Given the description of an element on the screen output the (x, y) to click on. 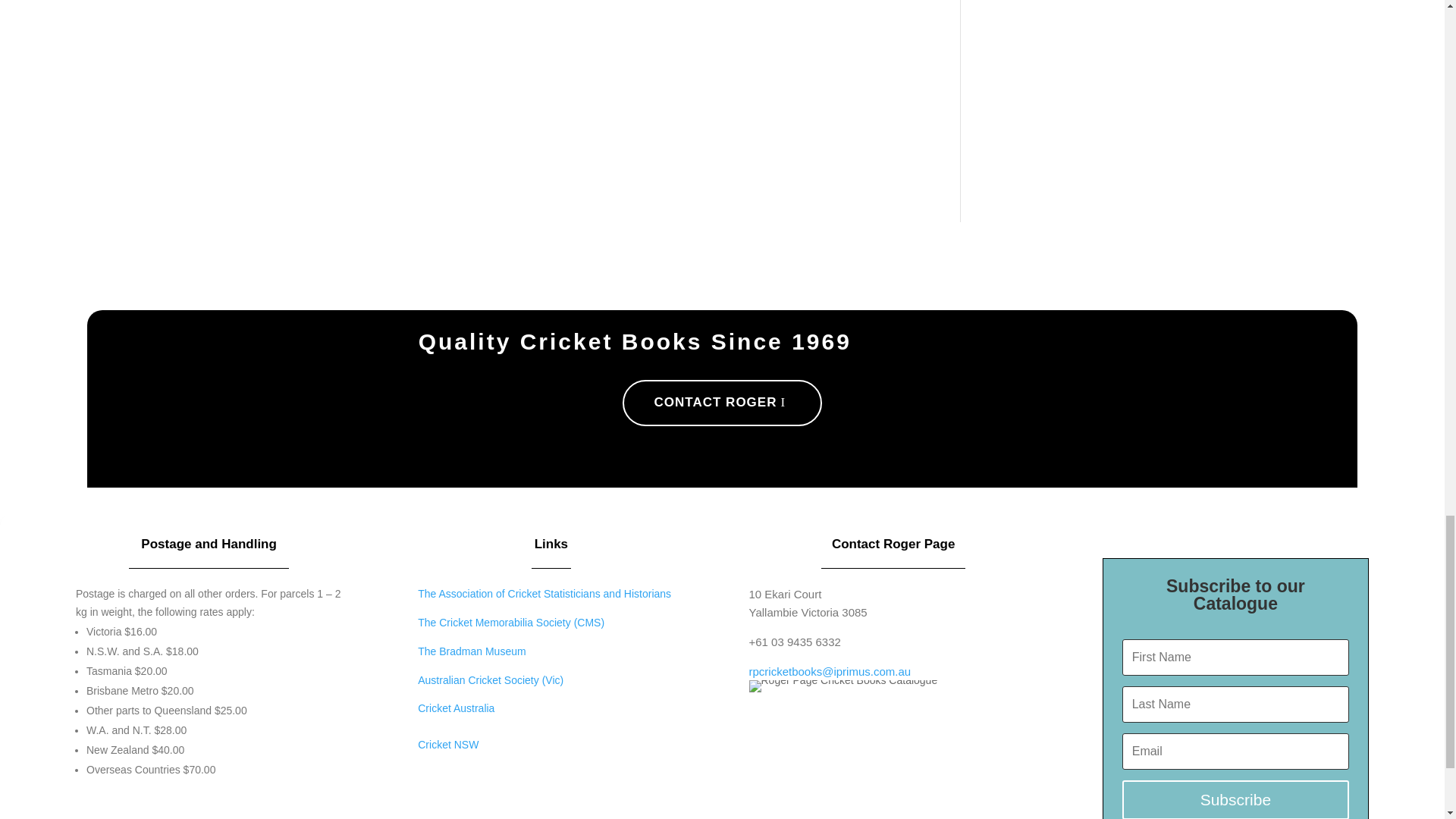
Roger Page Cricket Books (843, 686)
